Given the description of an element on the screen output the (x, y) to click on. 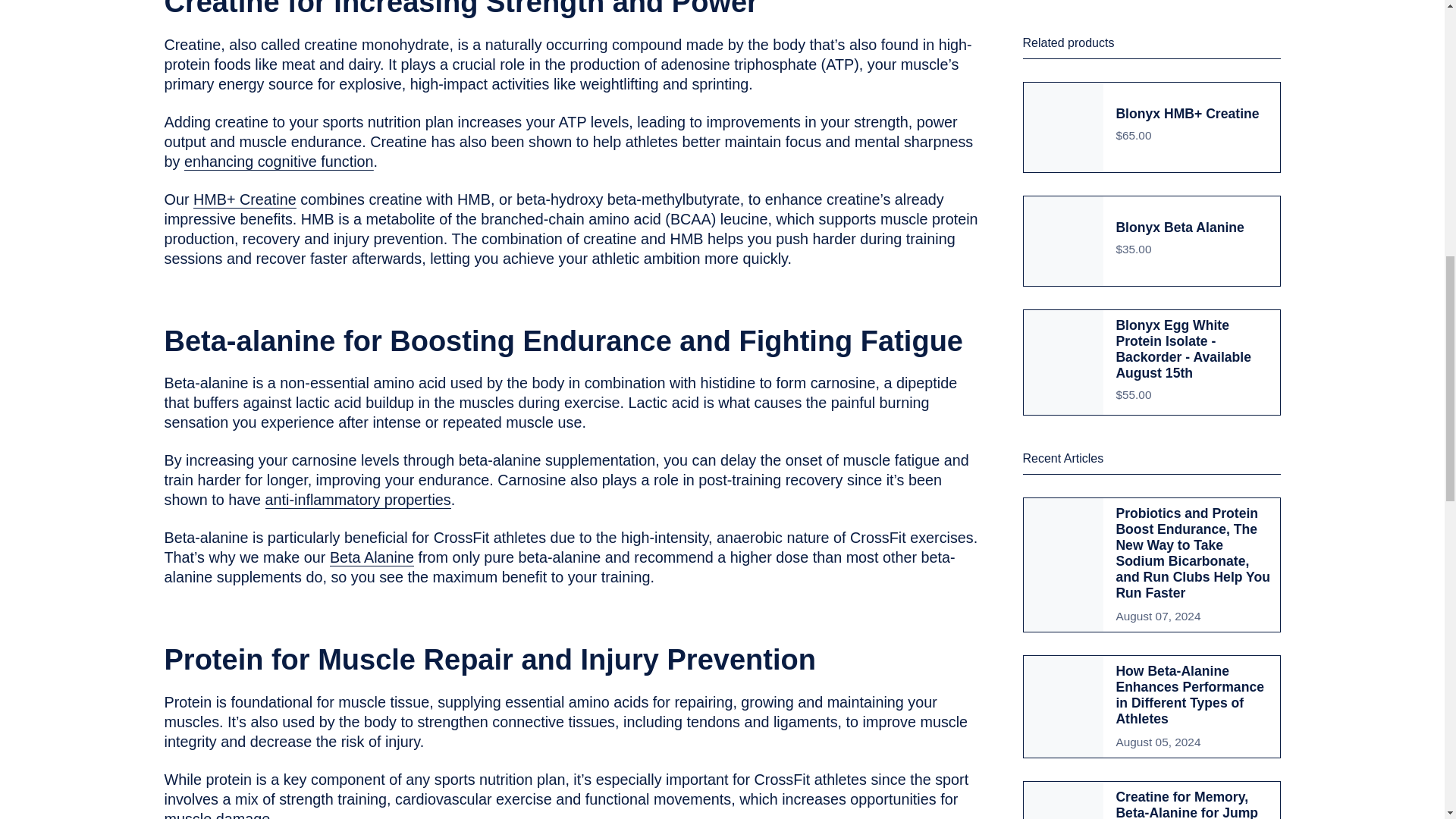
Blonyx Beta Alanine (371, 558)
Study about carnosine's effects on the body (357, 501)
